Given the description of an element on the screen output the (x, y) to click on. 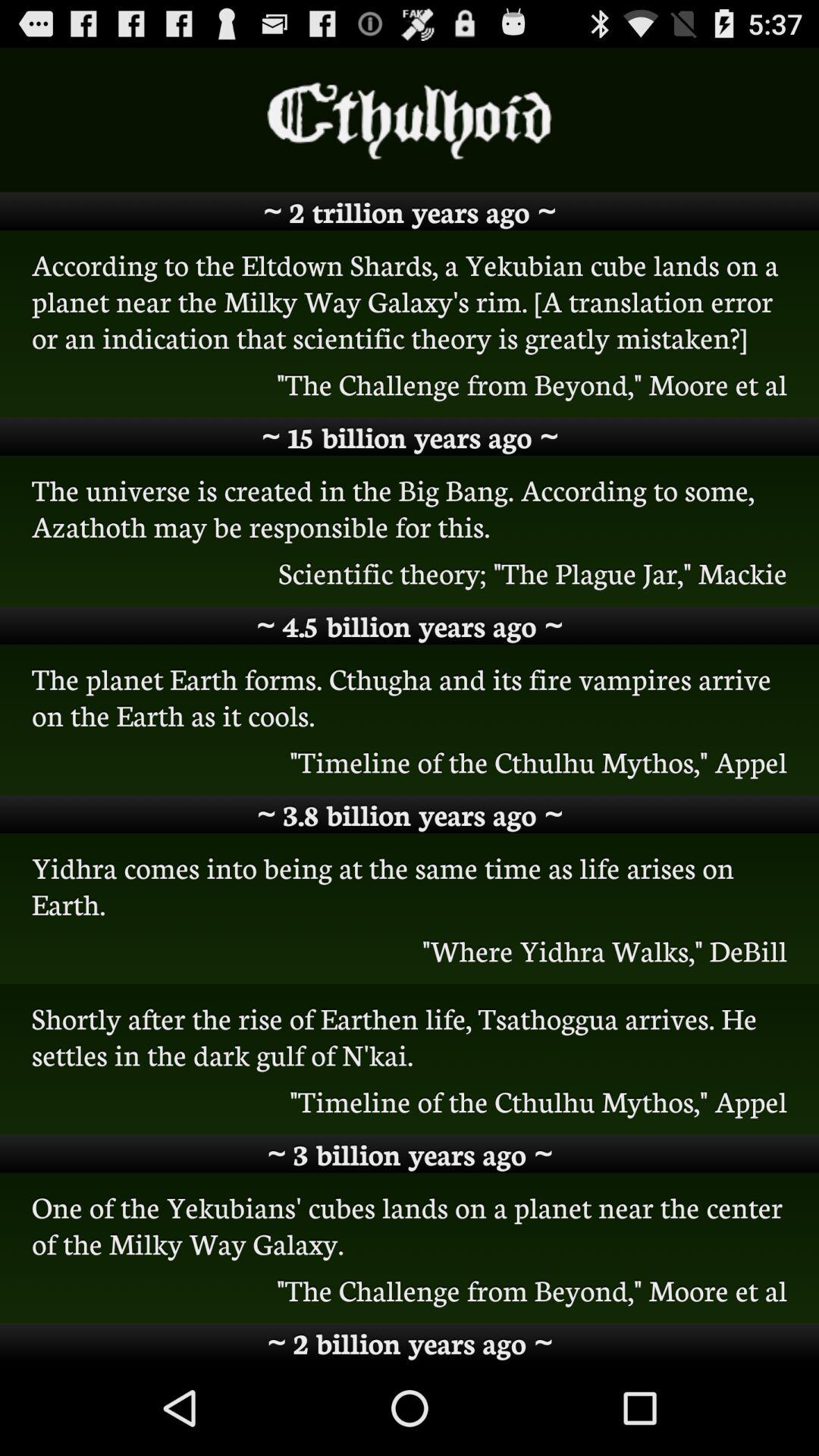
swipe to the the universe is icon (409, 507)
